Given the description of an element on the screen output the (x, y) to click on. 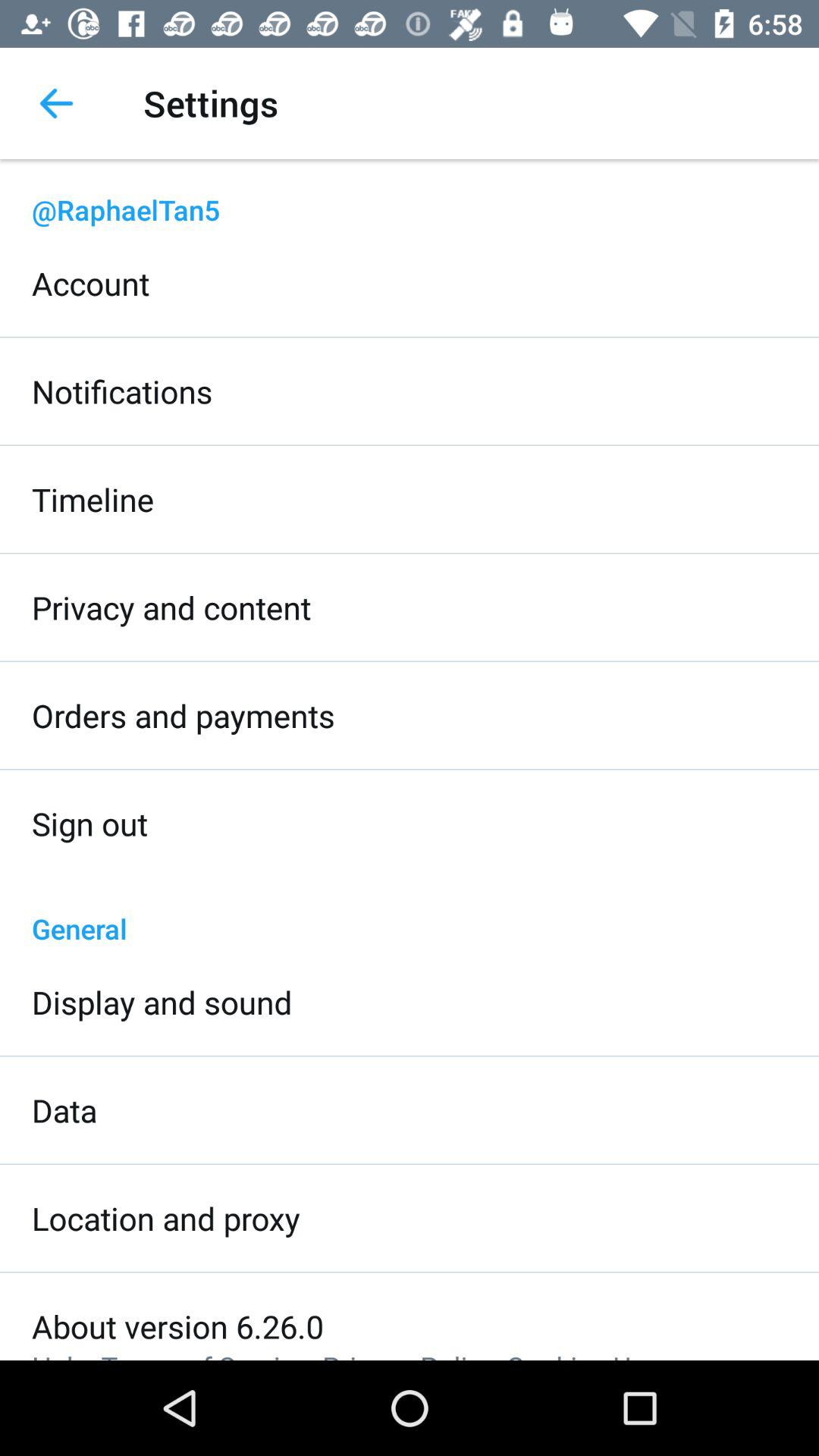
tap icon above the orders and payments icon (171, 607)
